Given the description of an element on the screen output the (x, y) to click on. 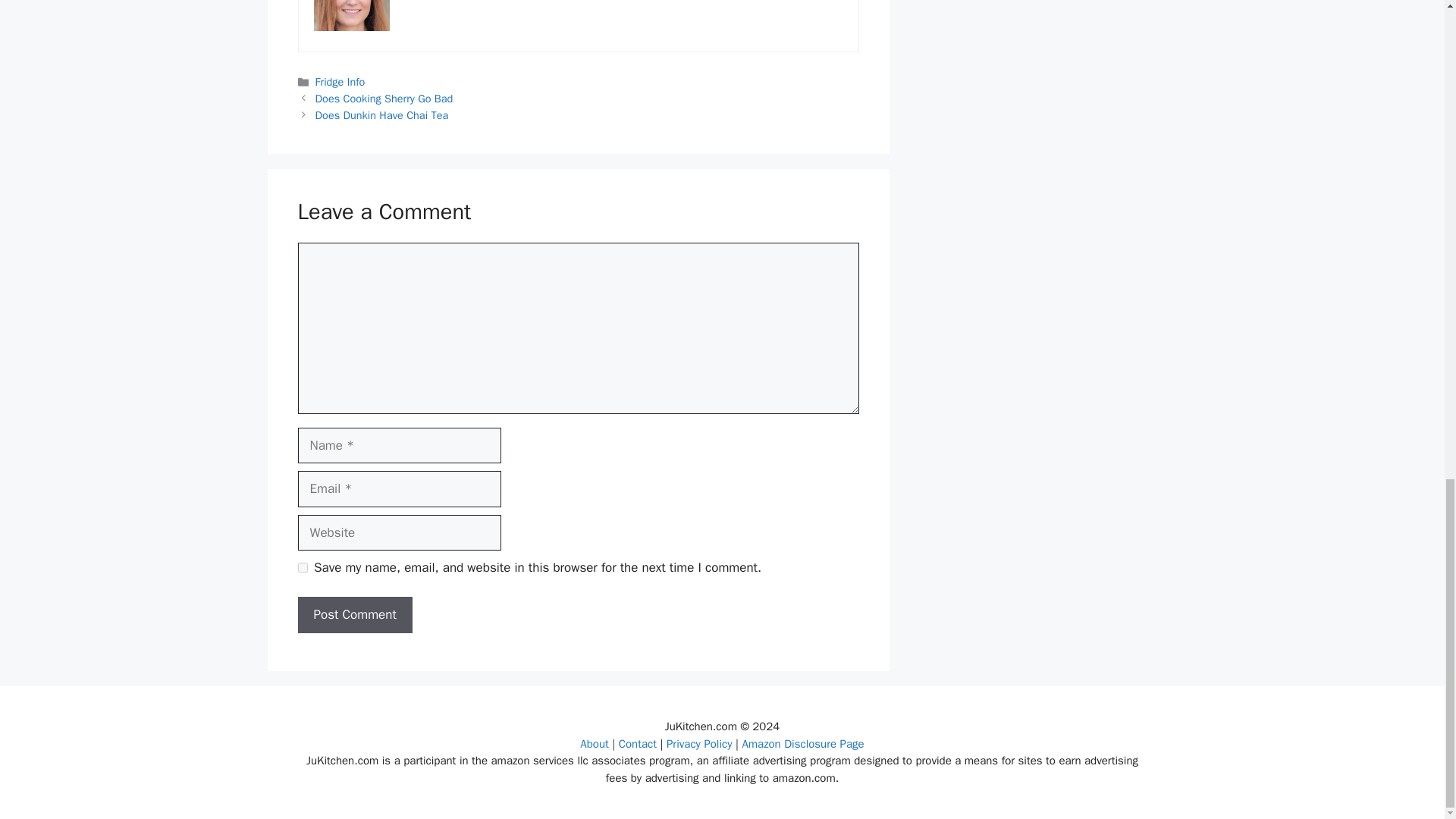
Privacy Policy (699, 744)
Post Comment (354, 615)
Amazon Disclosure Page (802, 744)
yes (302, 567)
Post Comment (354, 615)
Does Dunkin Have Chai Tea (381, 115)
Does Cooking Sherry Go Bad (383, 98)
About (595, 744)
Fridge Info (340, 81)
Contact (639, 744)
